Given the description of an element on the screen output the (x, y) to click on. 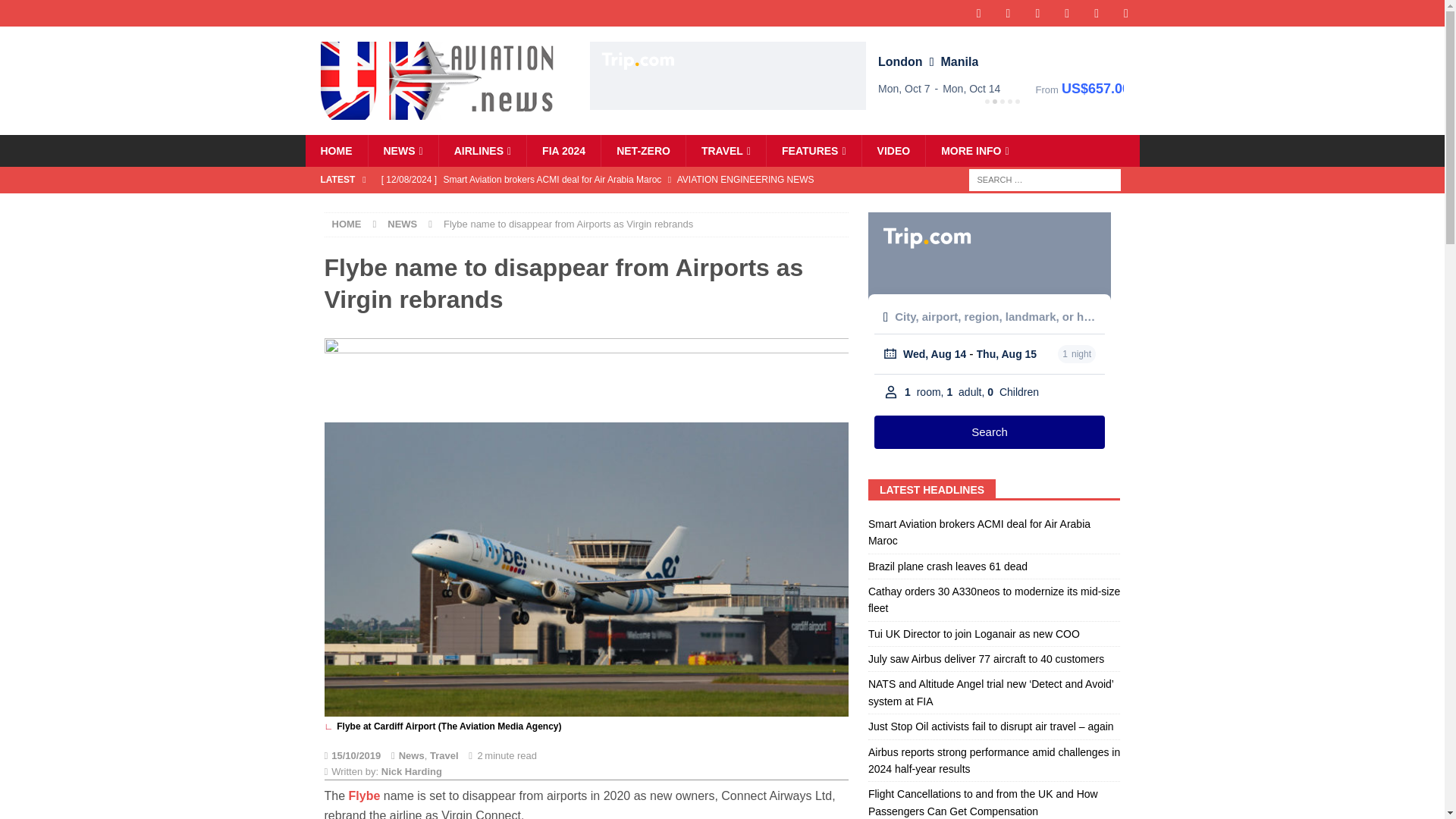
TRAVEL (725, 151)
UK Airline, Airport and Aviation News (402, 151)
HOME (335, 151)
UK Aviation News on Facebook (978, 13)
NEWS (402, 151)
FIA 2024 (562, 151)
NET-ZERO (642, 151)
Instagram (1038, 13)
UK Aviation News RSS Feed (1126, 13)
UK Aviation News on Youtube (1096, 13)
